Given the description of an element on the screen output the (x, y) to click on. 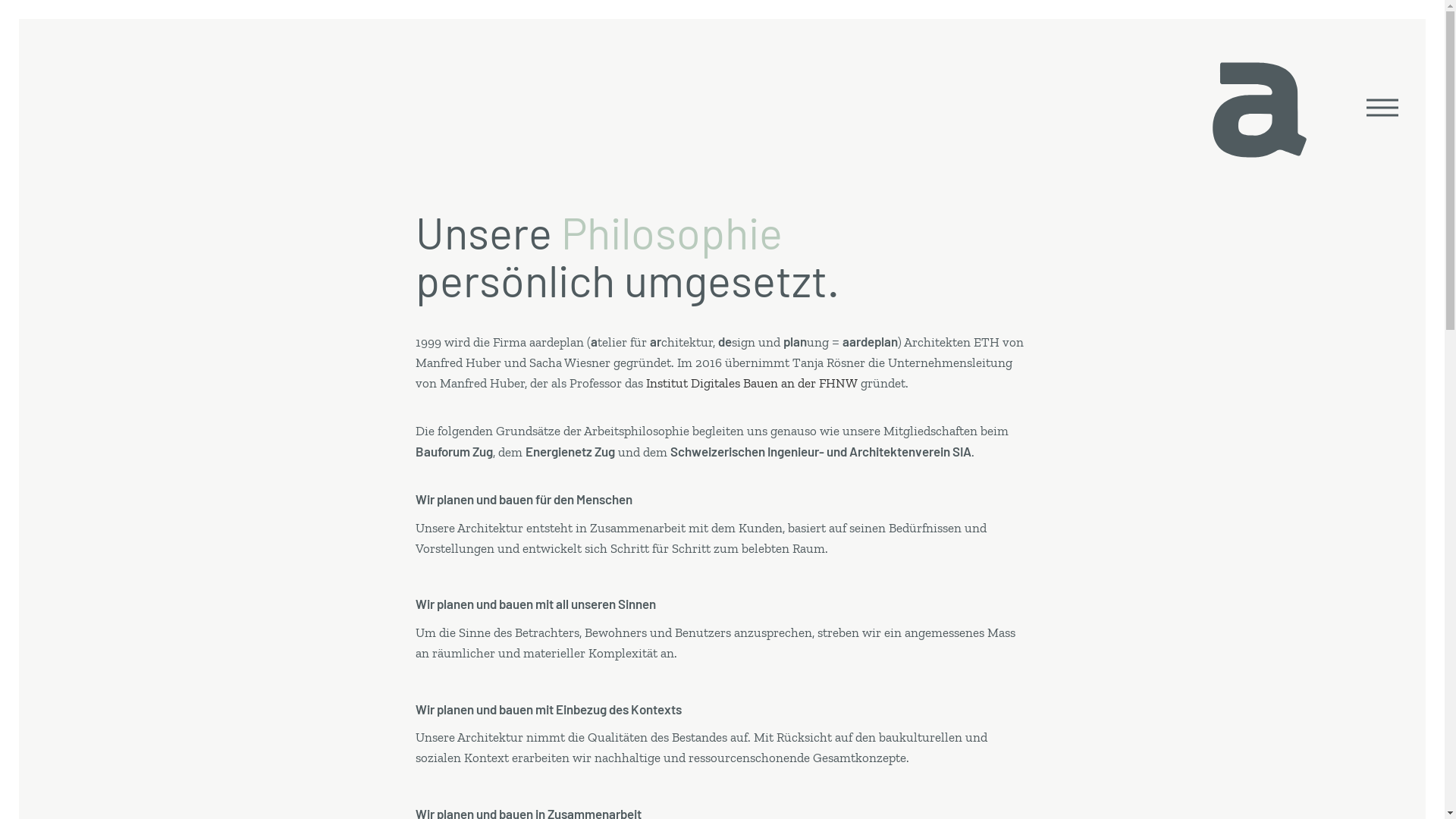
Institut Digitales Bauen an der FHNW Element type: text (751, 382)
